Given the description of an element on the screen output the (x, y) to click on. 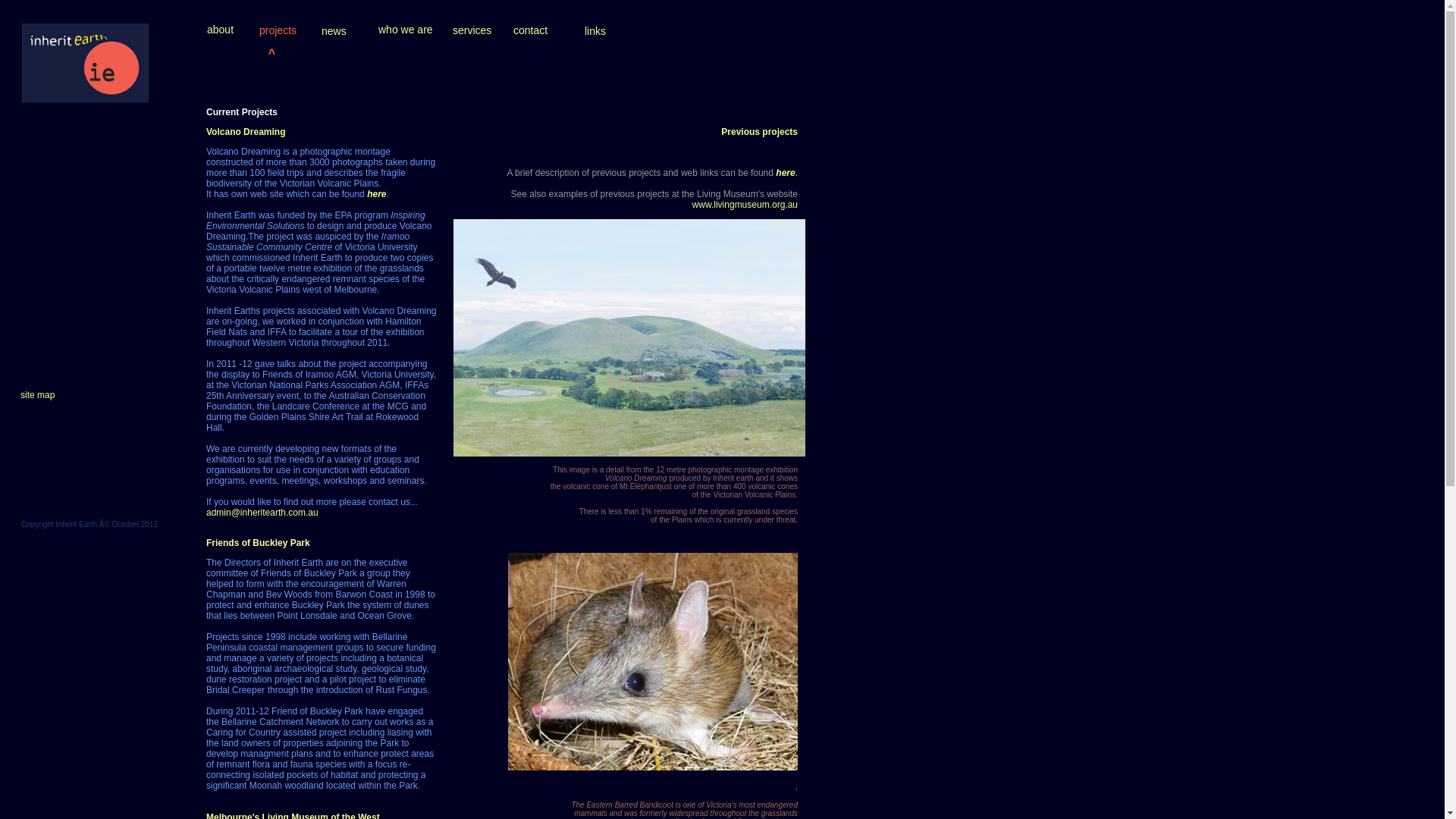
www.livingmuseum.org.au Element type: text (744, 204)
about Element type: text (220, 29)
. Element type: text (796, 172)
Volcano Dreaming Element type: text (245, 131)
who we are Element type: text (405, 29)
here Element type: text (376, 193)
services Element type: text (471, 30)
contact Element type: text (530, 30)
news Element type: text (333, 31)
Previous projects Element type: text (759, 131)
here Element type: text (784, 172)
admin@inheritearth.com.au Element type: text (262, 512)
links Element type: text (594, 31)
site map Element type: text (37, 394)
